Given the description of an element on the screen output the (x, y) to click on. 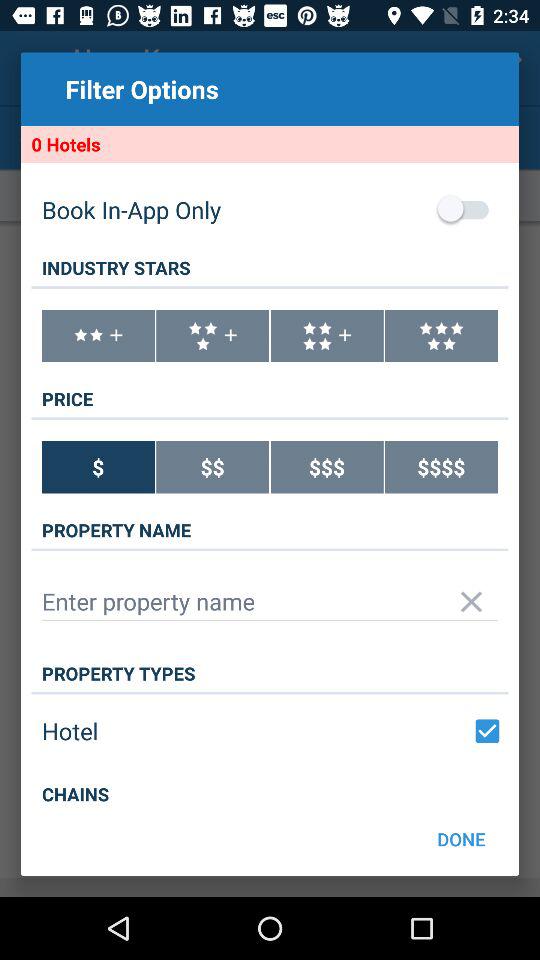
remove property name (471, 601)
